Given the description of an element on the screen output the (x, y) to click on. 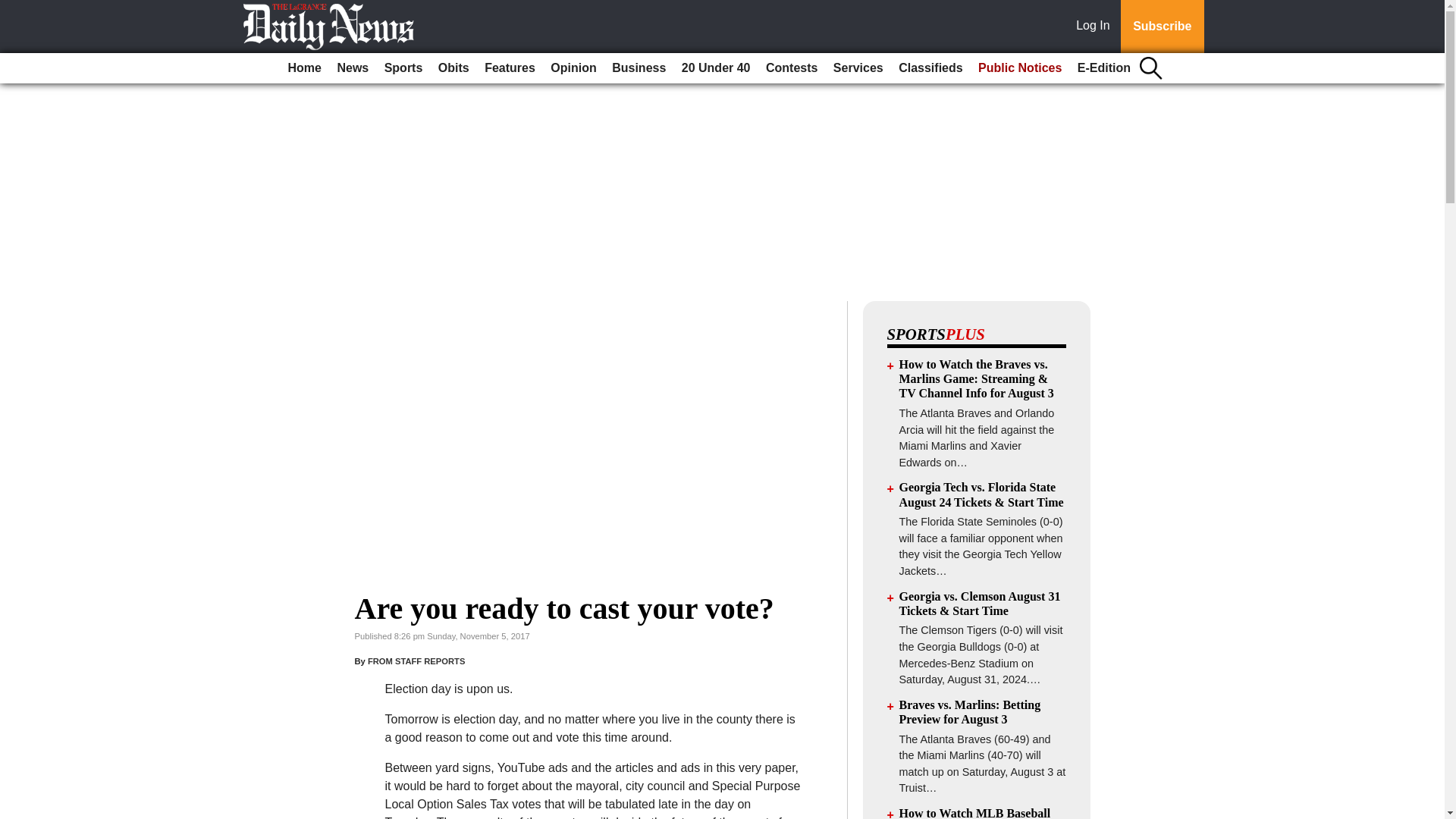
20 Under 40 (716, 68)
Opinion (573, 68)
Business (638, 68)
Classifieds (930, 68)
News (352, 68)
Contests (792, 68)
Subscribe (1162, 26)
Home (304, 68)
Obits (454, 68)
FROM STAFF REPORTS (416, 660)
Features (510, 68)
Services (858, 68)
Log In (1095, 26)
E-Edition (1104, 68)
